Given the description of an element on the screen output the (x, y) to click on. 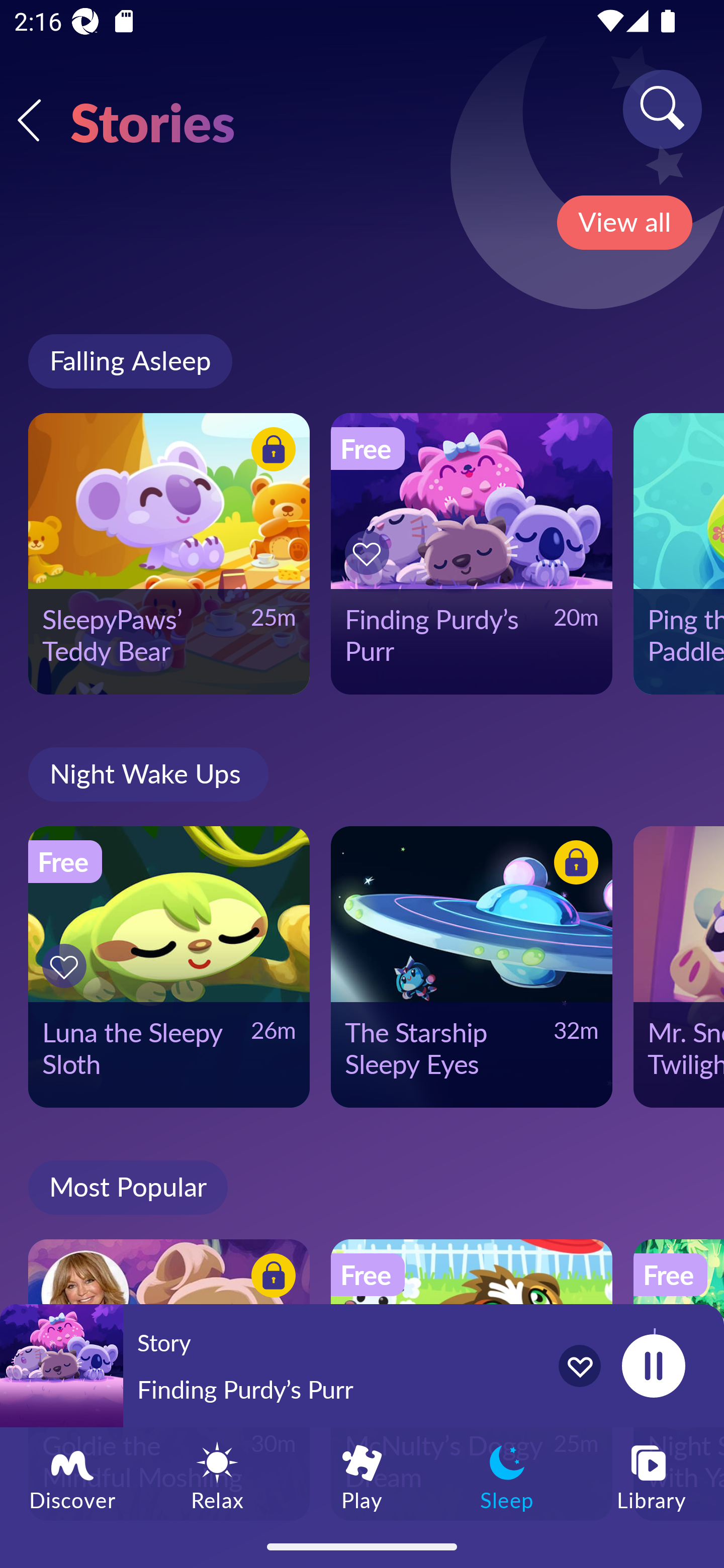
View all (624, 222)
Button (269, 451)
Button (369, 552)
Button (573, 865)
Button (67, 965)
Button (269, 1277)
Story Finding Purdy’s Purr 0.007966587 Pause (362, 1365)
0.007966587 Pause (653, 1365)
Discover (72, 1475)
Relax (216, 1475)
Play (361, 1475)
Library (651, 1475)
